Given the description of an element on the screen output the (x, y) to click on. 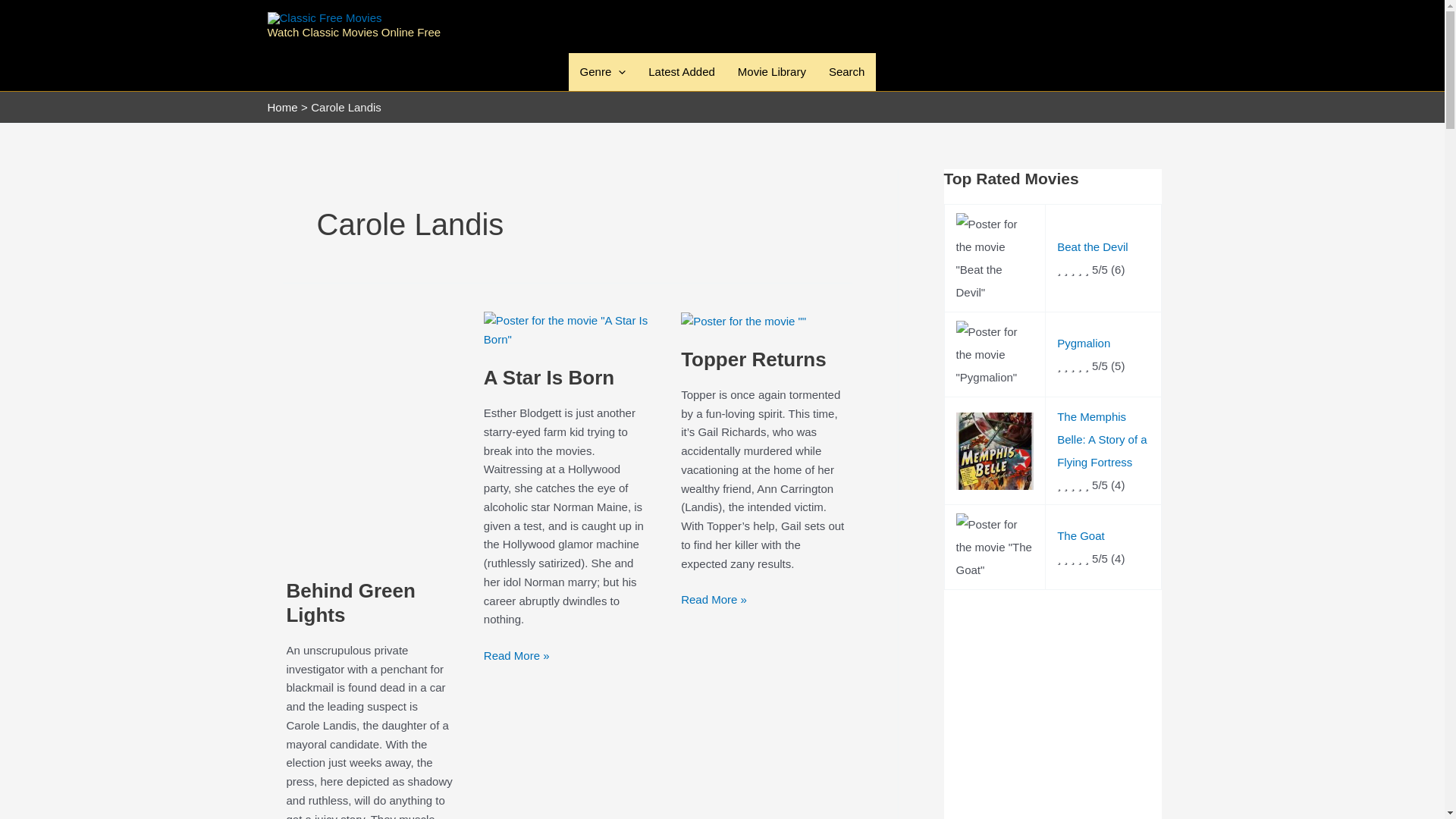
Movie Library (771, 71)
Behind Green Lights (350, 602)
Latest Added (681, 71)
Genre (603, 71)
Home (281, 106)
Search (846, 71)
